Given the description of an element on the screen output the (x, y) to click on. 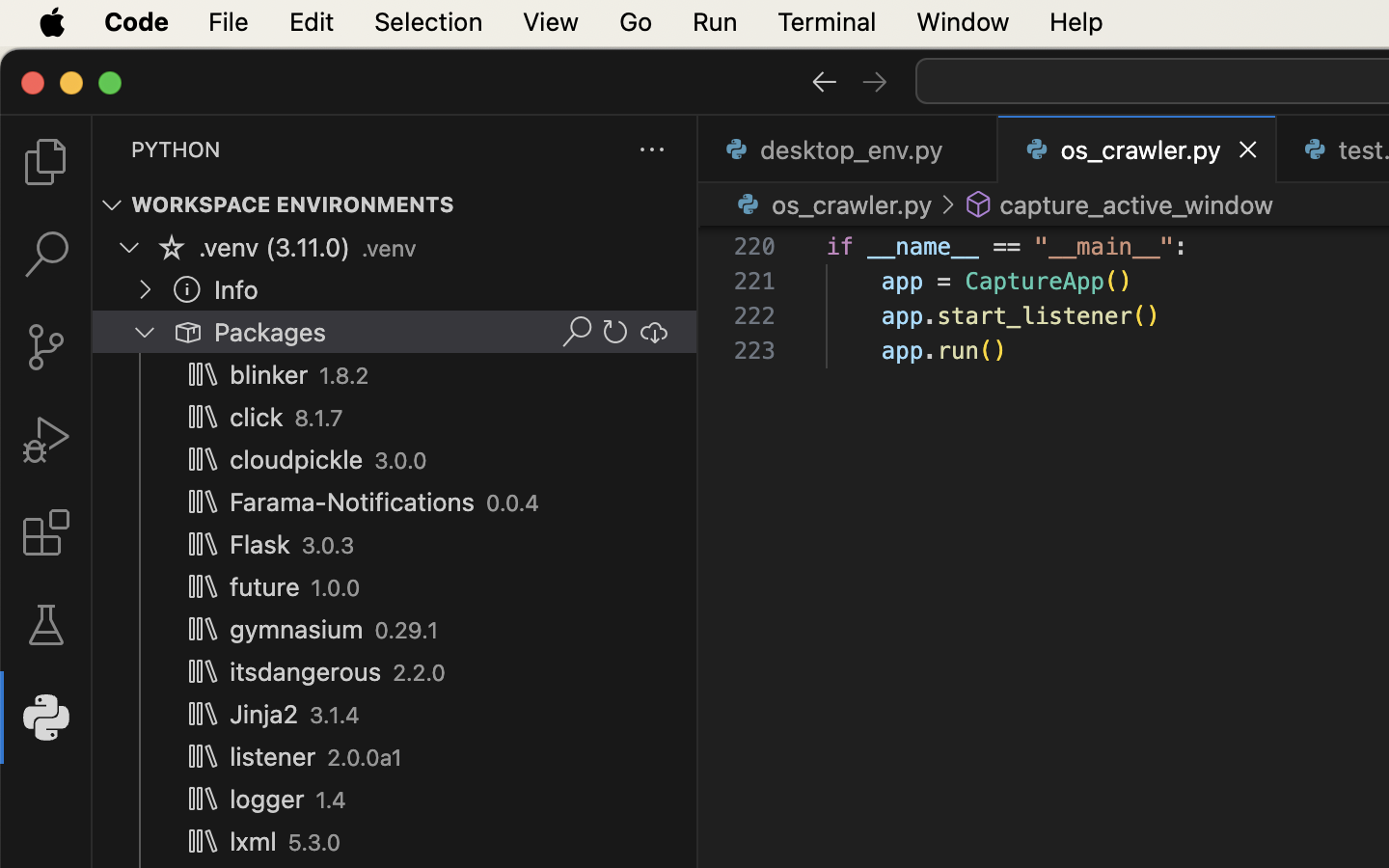
Farama-Notifications Element type: AXStaticText (352, 502)
3.1.4 Element type: AXStaticText (334, 715)
logger Element type: AXStaticText (266, 799)
Info Element type: AXStaticText (236, 289)
WORKSPACE ENVIRONMENTS Element type: AXStaticText (293, 204)
